Given the description of an element on the screen output the (x, y) to click on. 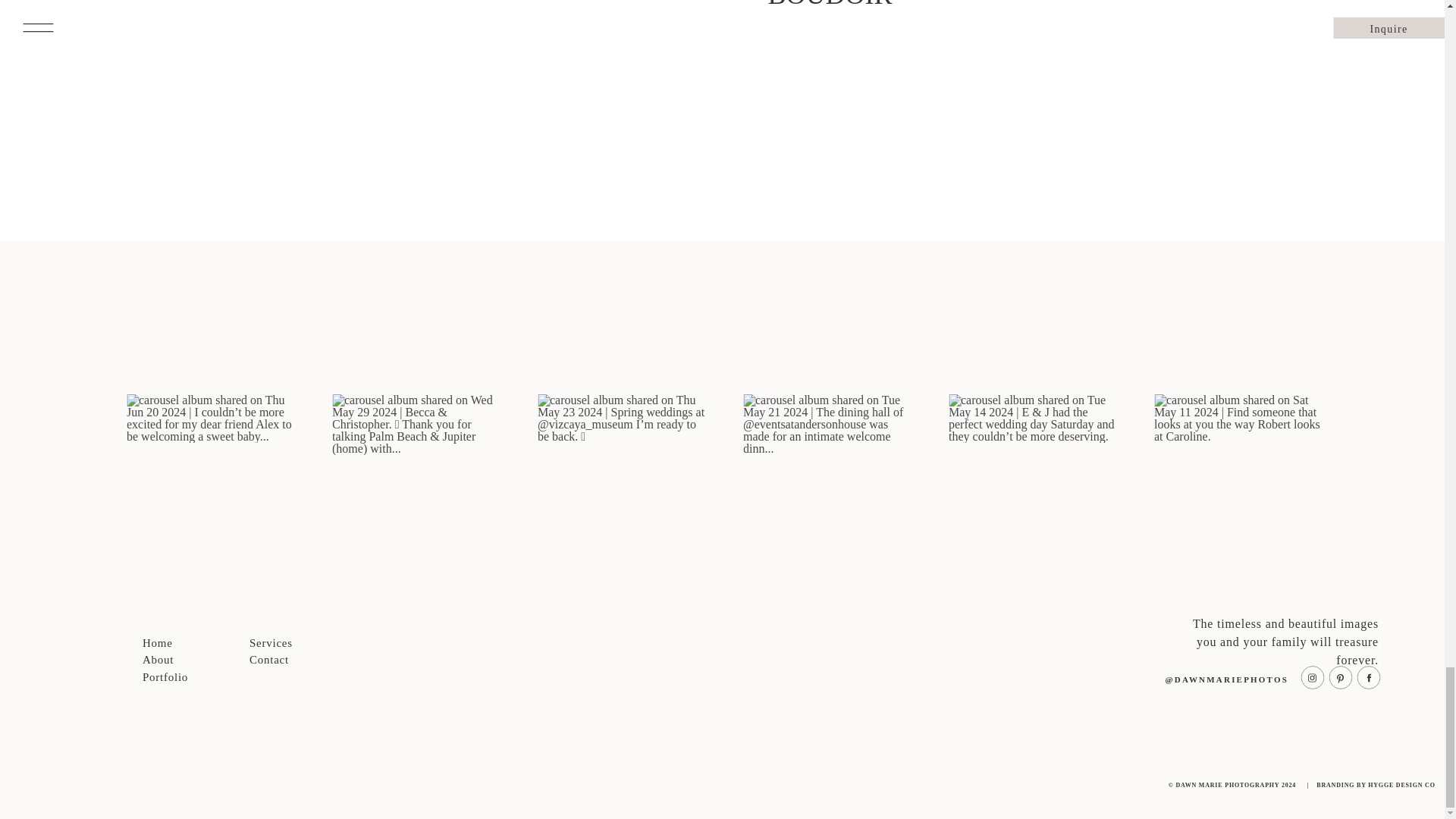
BESPOKE PARISIAN BOUDOIR  (908, 4)
